Given the description of an element on the screen output the (x, y) to click on. 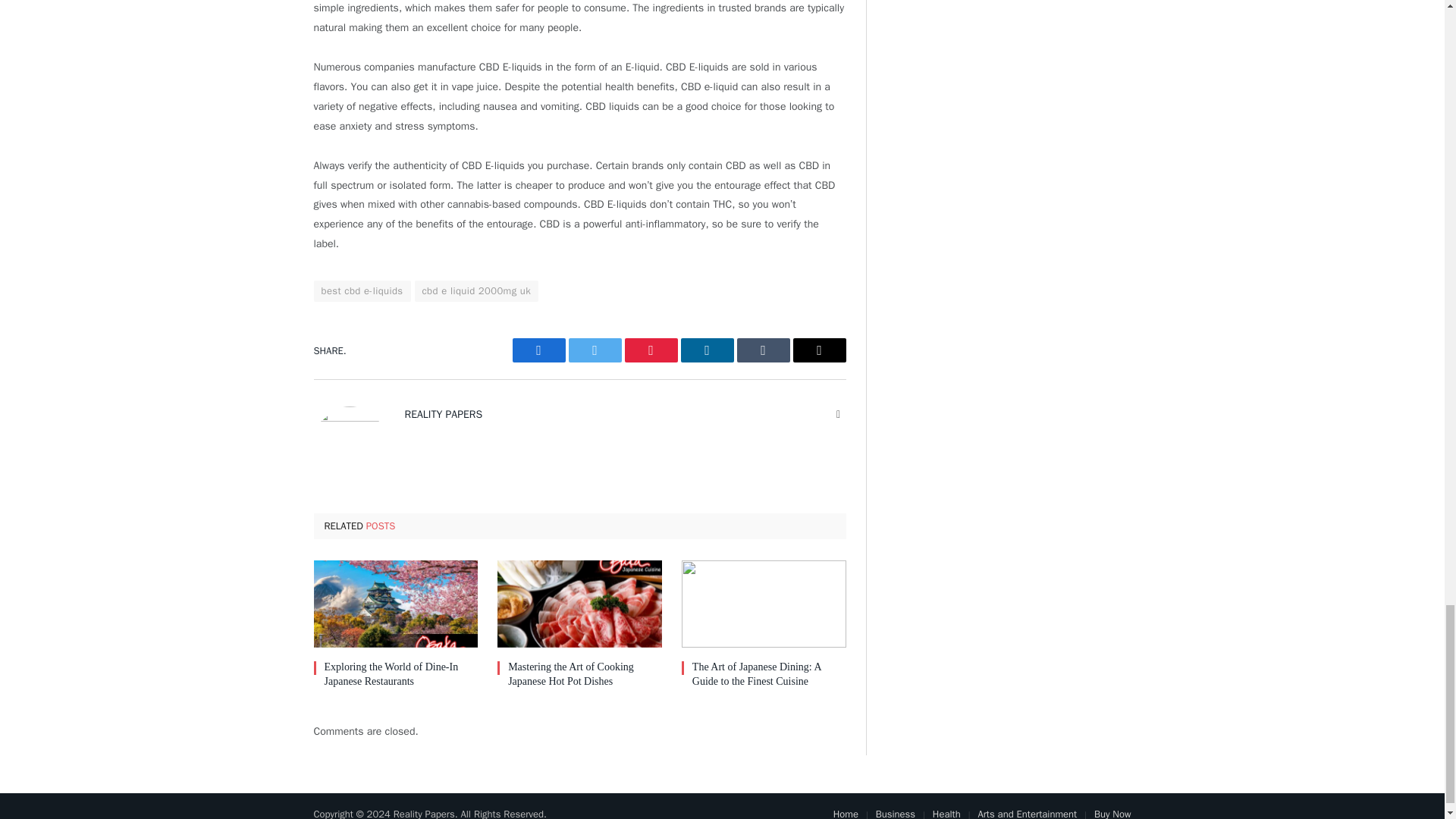
Twitter (595, 350)
Facebook (539, 350)
cbd e liquid 2000mg uk (475, 291)
best cbd e-liquids (362, 291)
